Given the description of an element on the screen output the (x, y) to click on. 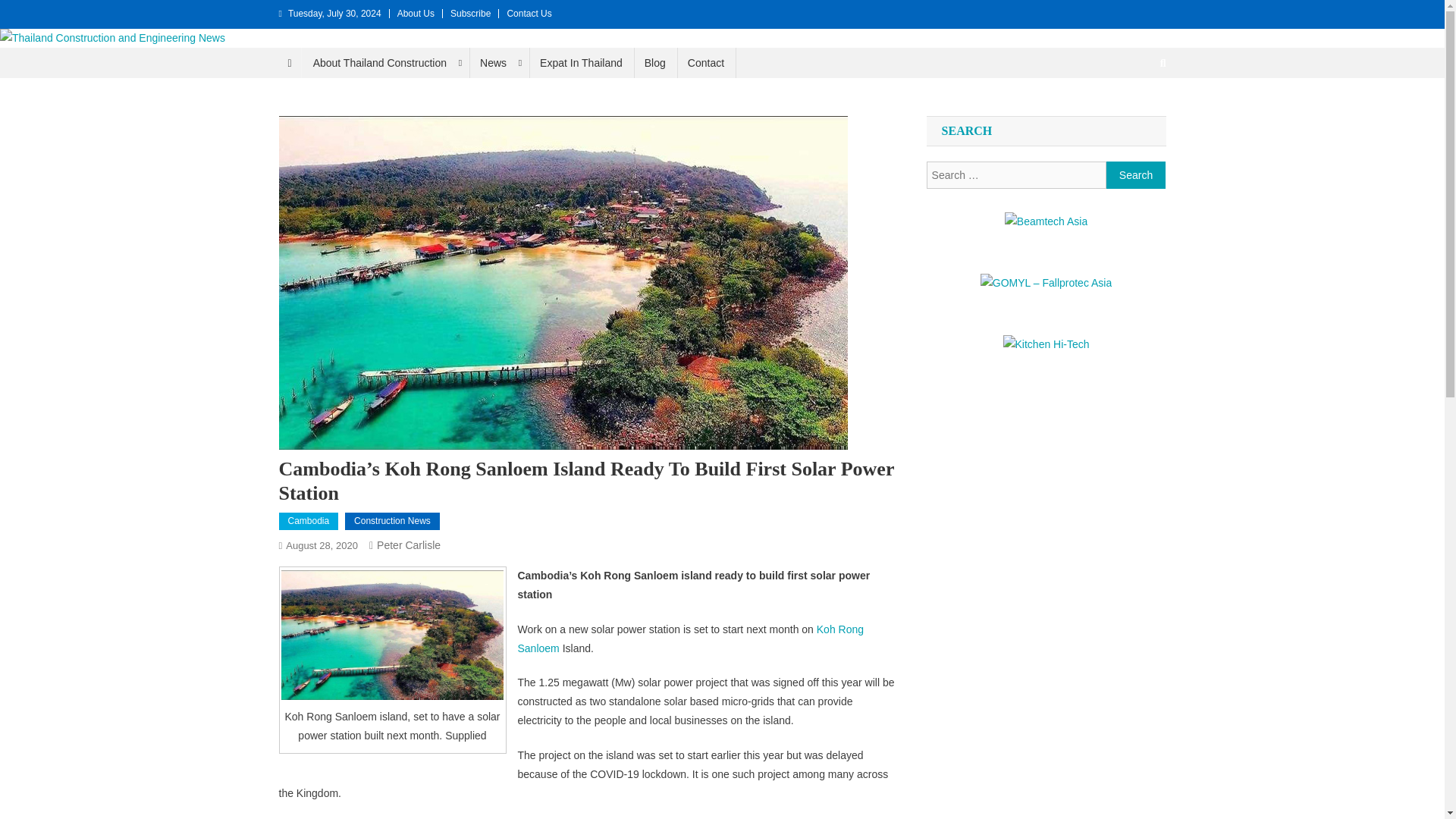
About Thailand Construction (385, 62)
Thailand Construction and Engineering News (262, 62)
Construction News (392, 521)
Subscribe (469, 13)
Contact Us (528, 13)
Expat In Thailand (580, 62)
Blog (654, 62)
News (498, 62)
Search (1136, 175)
Search (1136, 175)
August 28, 2020 (321, 545)
About Us (415, 13)
Peter Carlisle (409, 544)
Koh Rong Sanloem (689, 638)
Cambodia (309, 521)
